Given the description of an element on the screen output the (x, y) to click on. 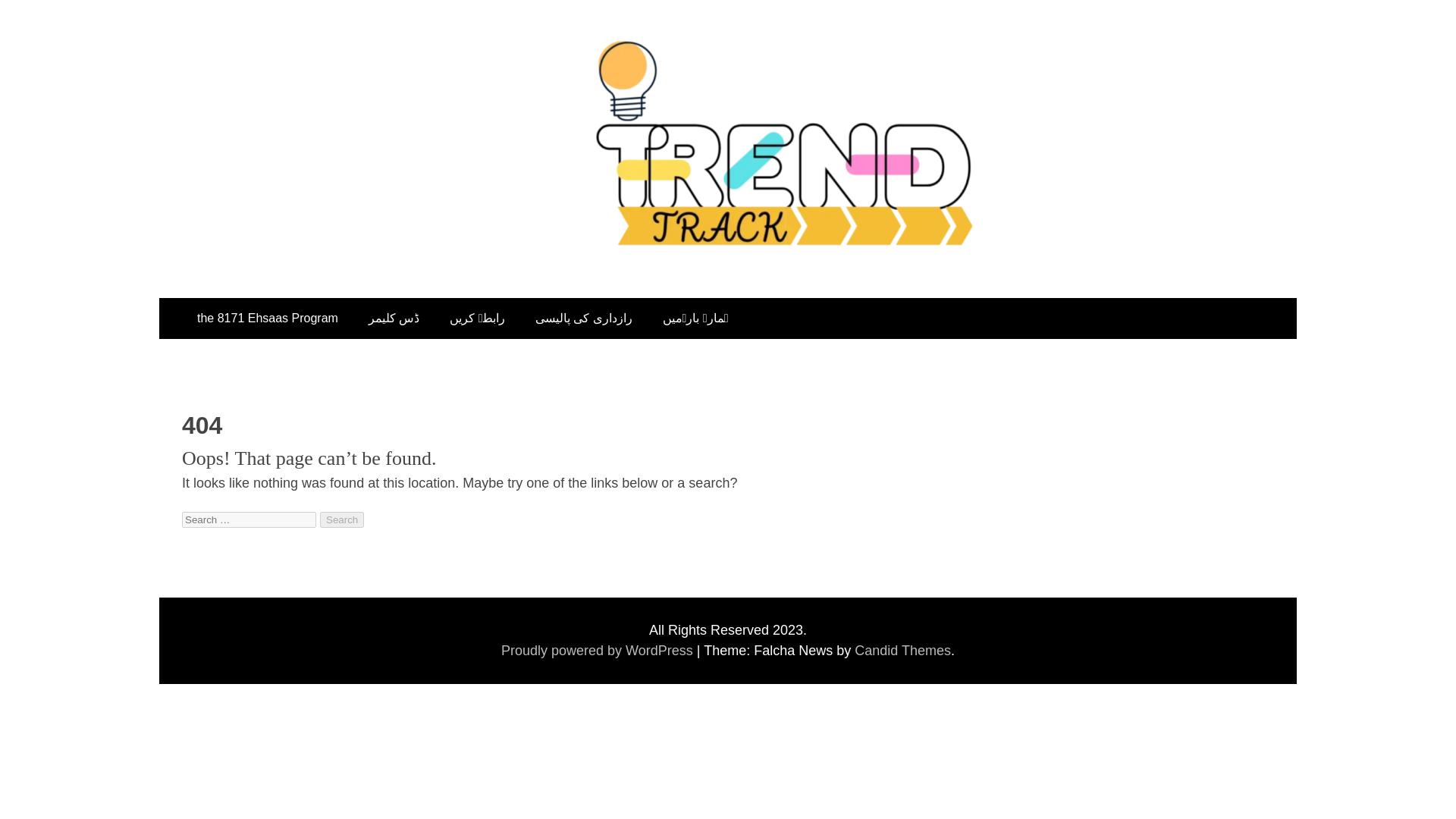
Search (342, 519)
Candid Themes (902, 650)
the 8171 Ehsaas Program (267, 318)
Proudly powered by WordPress (598, 650)
Search (342, 519)
Search (342, 519)
